Given the description of an element on the screen output the (x, y) to click on. 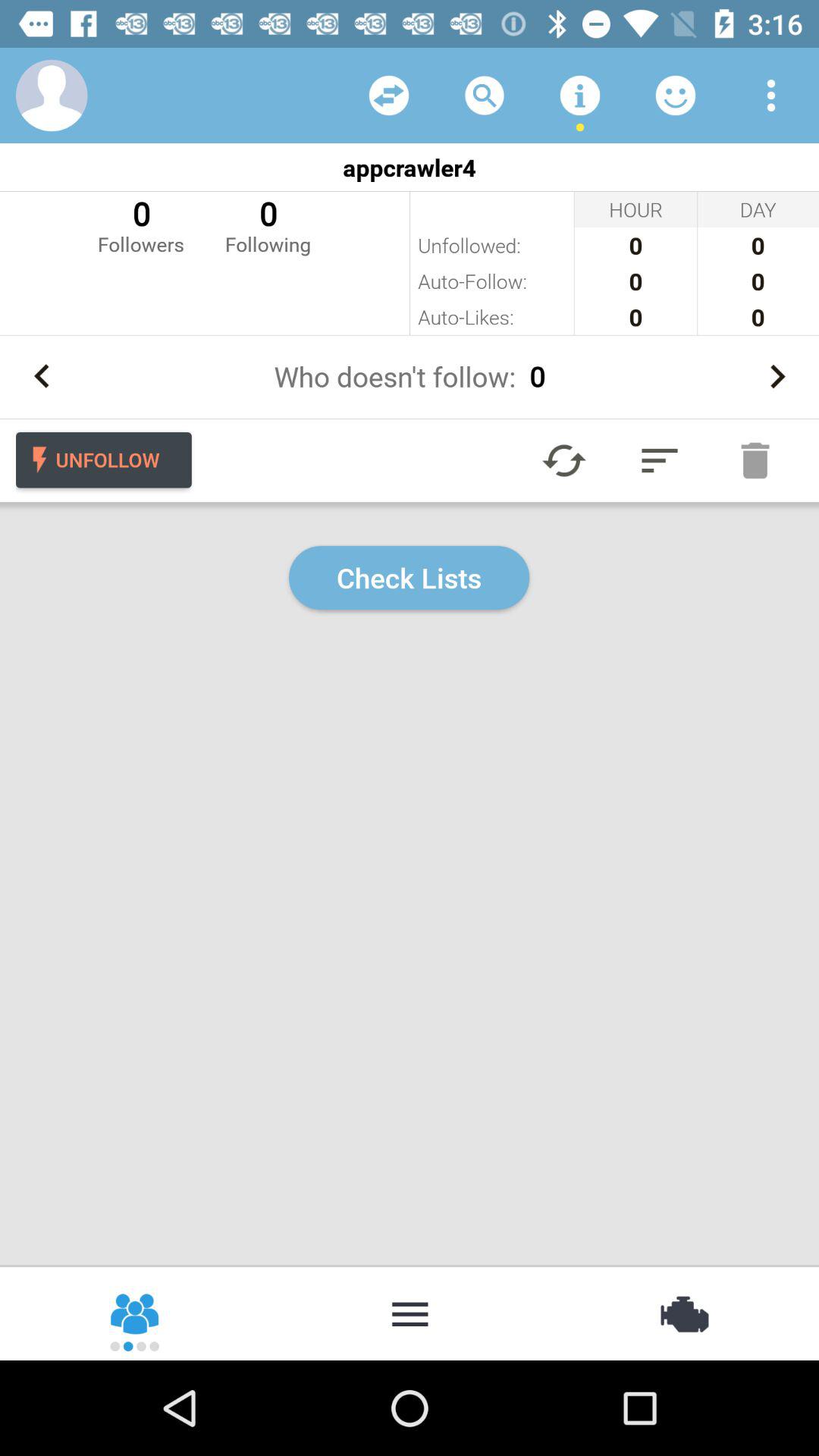
settings (683, 1312)
